Given the description of an element on the screen output the (x, y) to click on. 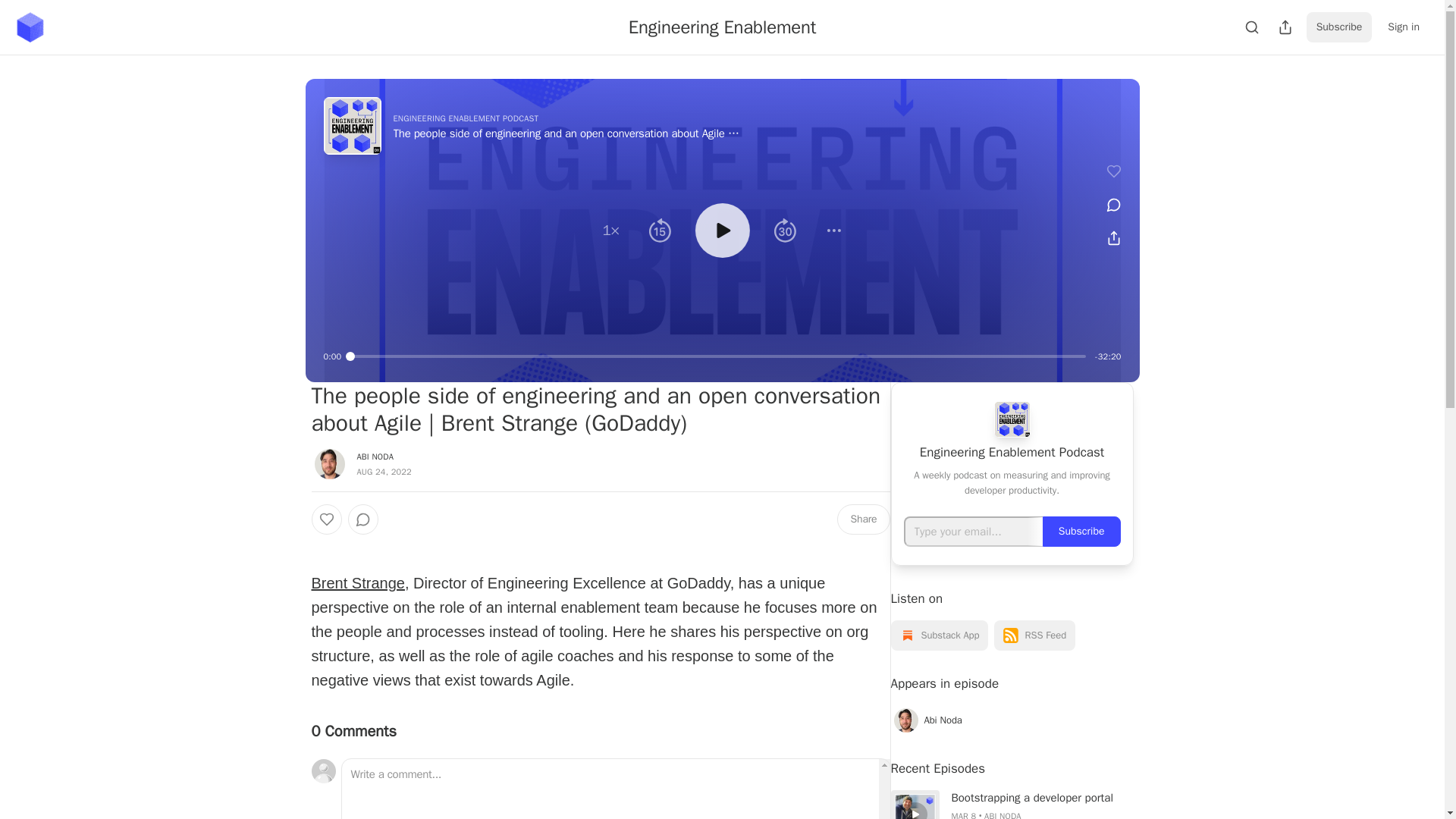
Sign in (1403, 27)
Subscribe (1339, 27)
Engineering Enablement (721, 26)
Share (863, 519)
ABI NODA (374, 456)
Brent Strange (357, 582)
